Given the description of an element on the screen output the (x, y) to click on. 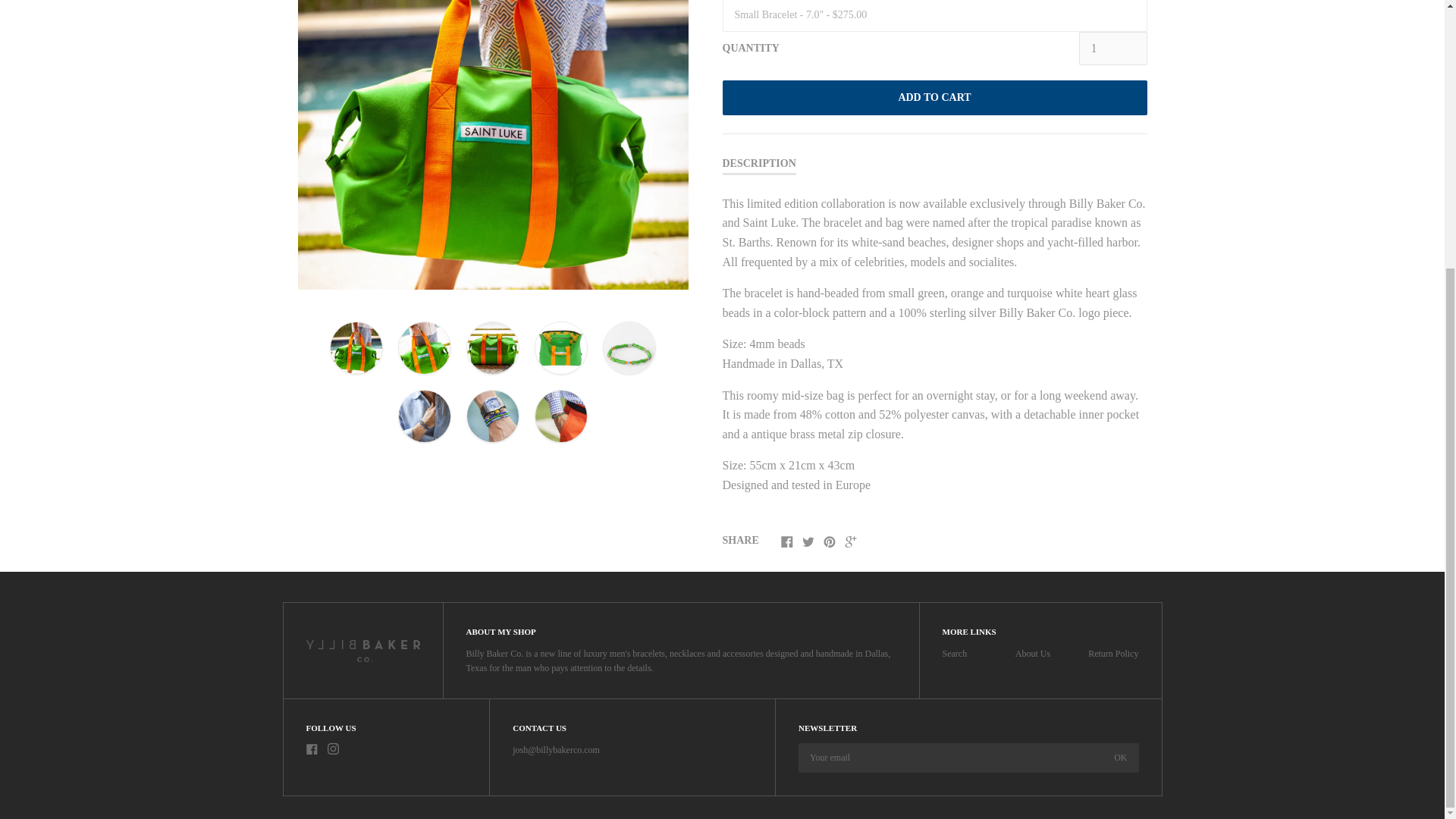
Instagram (333, 748)
Facebook (786, 541)
OK (1120, 757)
Twitter (807, 541)
Pinterest (829, 541)
1 (1112, 48)
Facebook (311, 748)
ADD TO CART (934, 97)
